Given the description of an element on the screen output the (x, y) to click on. 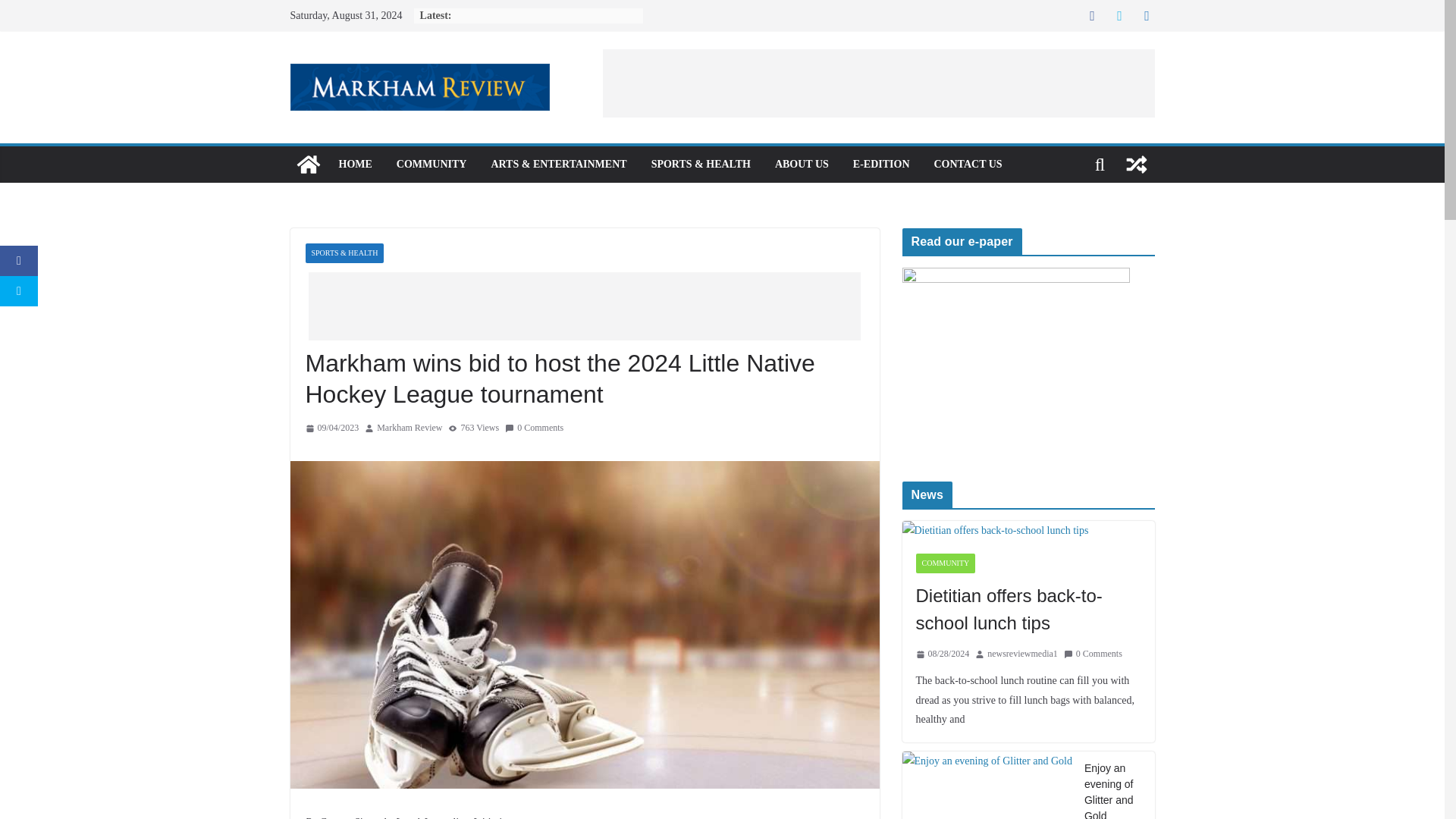
Dietitian offers back-to-school lunch tips (1028, 529)
Enjoy an evening of Glitter and Gold (1113, 789)
newsreviewmedia1 (1022, 654)
Markham Review (307, 164)
COMMUNITY (431, 164)
View a random post (1136, 164)
Markham Review (409, 428)
ABOUT US (801, 164)
0 Comments (534, 428)
Dietitian offers back-to-school lunch tips (1028, 609)
